Given the description of an element on the screen output the (x, y) to click on. 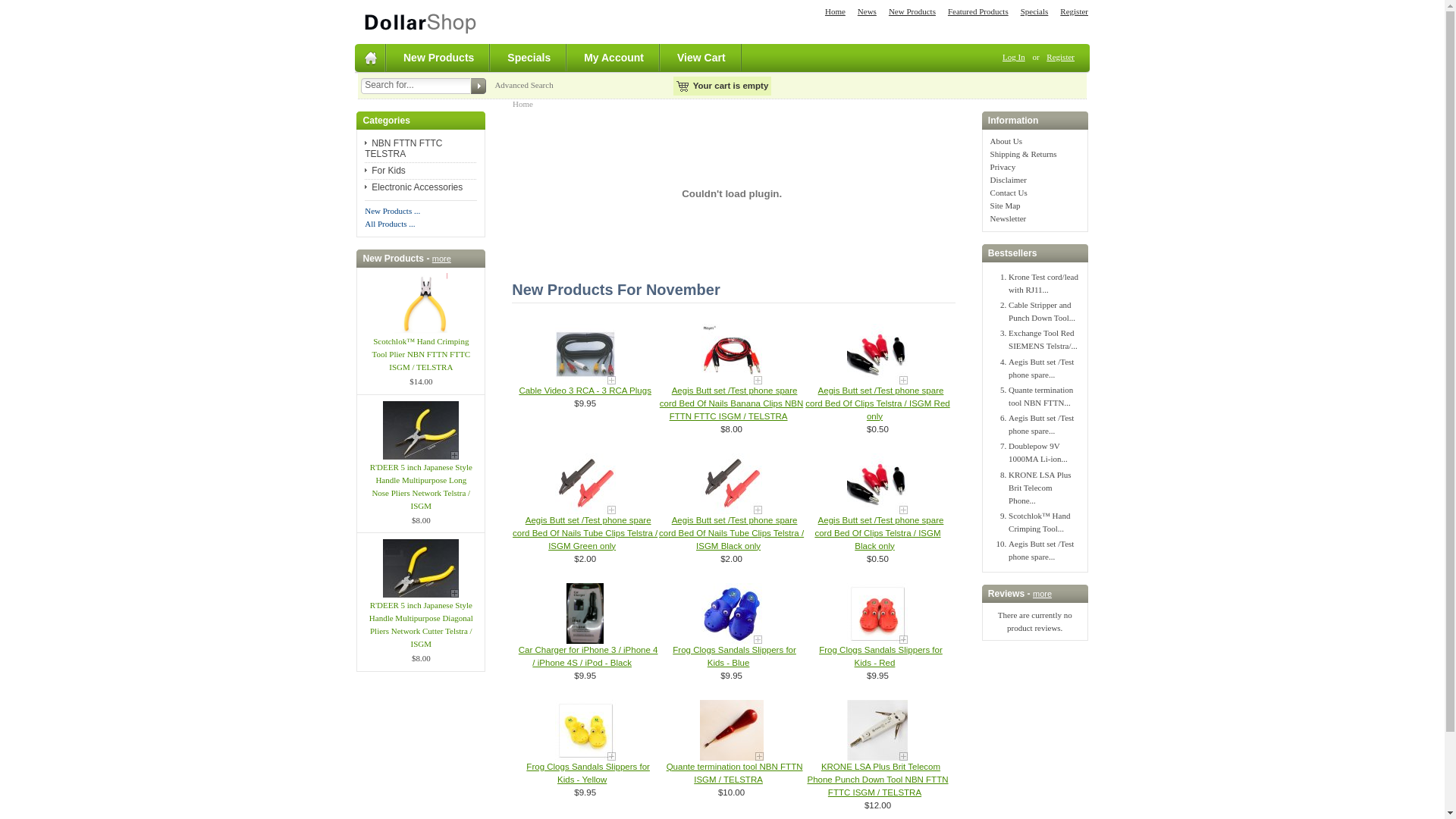
About Us Element type: text (1006, 140)
more Element type: text (1041, 593)
News Element type: text (866, 10)
Site Map Element type: text (1005, 205)
Log In Element type: text (1013, 56)
For Kids Element type: text (384, 170)
more Element type: text (441, 258)
Contact Us Element type: text (1008, 192)
Home Element type: text (835, 10)
Electronic Accessories Element type: text (413, 187)
 Frog Clogs Sandals Slippers for Kids - Red  Element type: hover (877, 613)
Cable Video 3 RCA - 3 RCA Plugs Element type: text (584, 390)
Doublepow 9V 1000MA Li-ion... Element type: text (1037, 452)
Newsletter Element type: text (1008, 217)
All Products ... Element type: text (389, 223)
Aegis Butt set /Test phone spare... Element type: text (1040, 368)
Featured Products Element type: text (977, 10)
 Frog Clogs Sandals Slippers for Kids - Yellow  Element type: hover (585, 729)
Disclaimer Element type: text (1008, 179)
 Frog Clogs Sandals Slippers for Kids - Blue  Element type: hover (731, 613)
KRONE LSA Plus Brit Telecom Phone... Element type: text (1039, 487)
 Quante termination tool NBN FTTN ISGM / TELSTRA  Element type: hover (731, 729)
Specials Element type: text (529, 57)
New Products ... Element type: text (392, 210)
Cable Stripper and Punch Down Tool... Element type: text (1041, 311)
My Account Element type: text (614, 57)
Privacy Element type: text (1003, 166)
 Powered by Zen Cart :: The Art of E-Commerce  Element type: hover (419, 21)
View Cart Element type: text (701, 57)
Register Element type: text (1060, 56)
Shipping & Returns Element type: text (1023, 153)
Krone Test cord/lead with RJ11... Element type: text (1043, 283)
 Cable Video 3 RCA - 3 RCA Plugs  Element type: hover (585, 353)
Quante termination tool NBN FTTN... Element type: text (1040, 396)
Frog Clogs Sandals Slippers for Kids - Red Element type: text (880, 656)
Register Element type: text (1074, 10)
New Products Element type: text (911, 10)
Exchange Tool Red SIEMENS Telstra/... Element type: text (1042, 339)
NBN FTTN FTTC TELSTRA Element type: text (403, 148)
Aegis Butt set /Test phone spare... Element type: text (1040, 550)
Aegis Butt set /Test phone spare... Element type: text (1040, 424)
Advanced Search Element type: text (523, 84)
Quante termination tool NBN FTTN ISGM / TELSTRA Element type: text (734, 773)
Frog Clogs Sandals Slippers for Kids - Blue Element type: text (734, 656)
Frog Clogs Sandals Slippers for Kids - Yellow Element type: text (587, 773)
Specials Element type: text (1034, 10)
New Products Element type: text (439, 57)
